Given the description of an element on the screen output the (x, y) to click on. 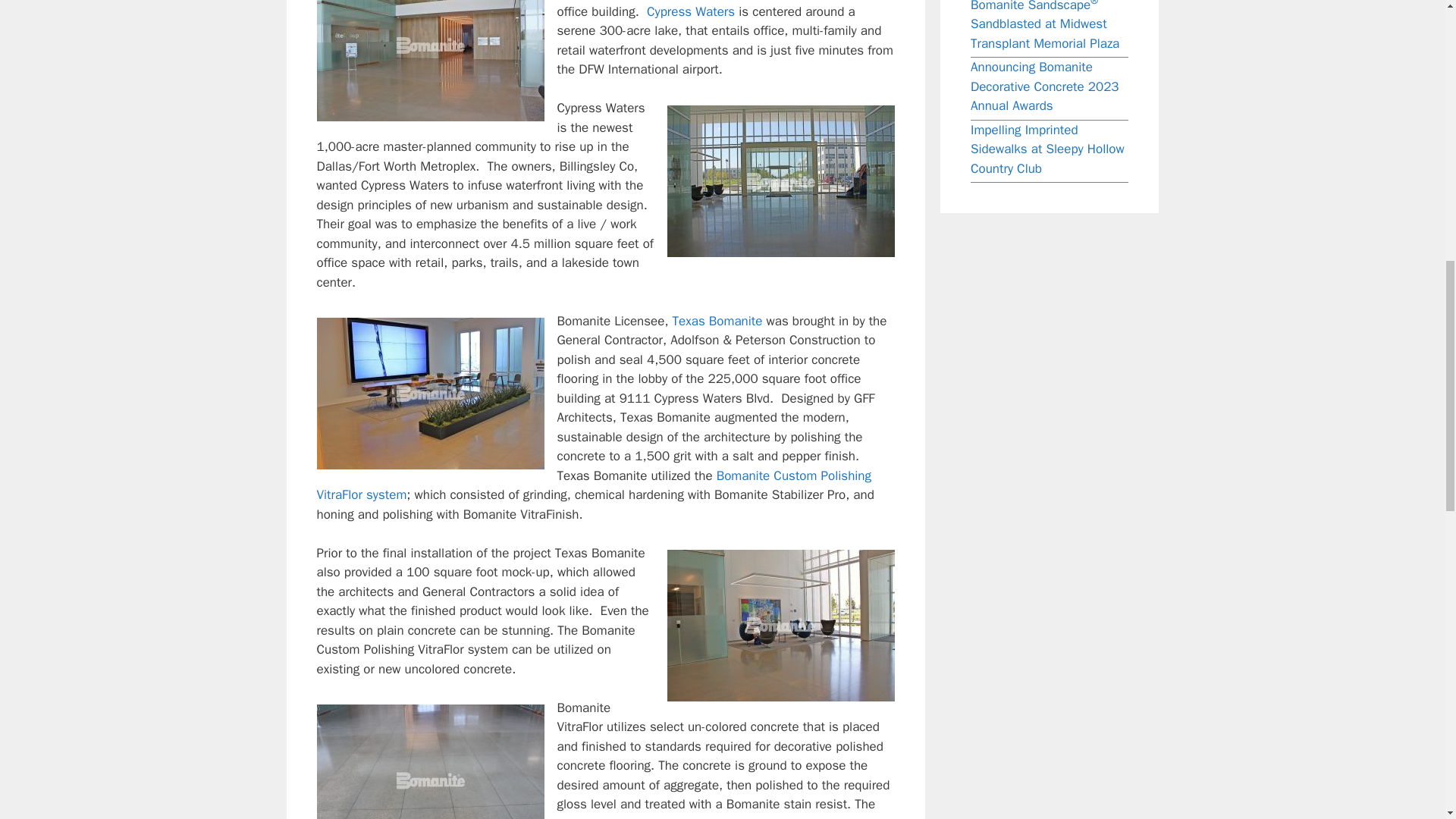
Texas Bomanite (717, 320)
Bomanite Custom Polishing VitraFlor system (594, 485)
Scroll back to top (1395, 663)
Cypress Waters (690, 11)
